Given the description of an element on the screen output the (x, y) to click on. 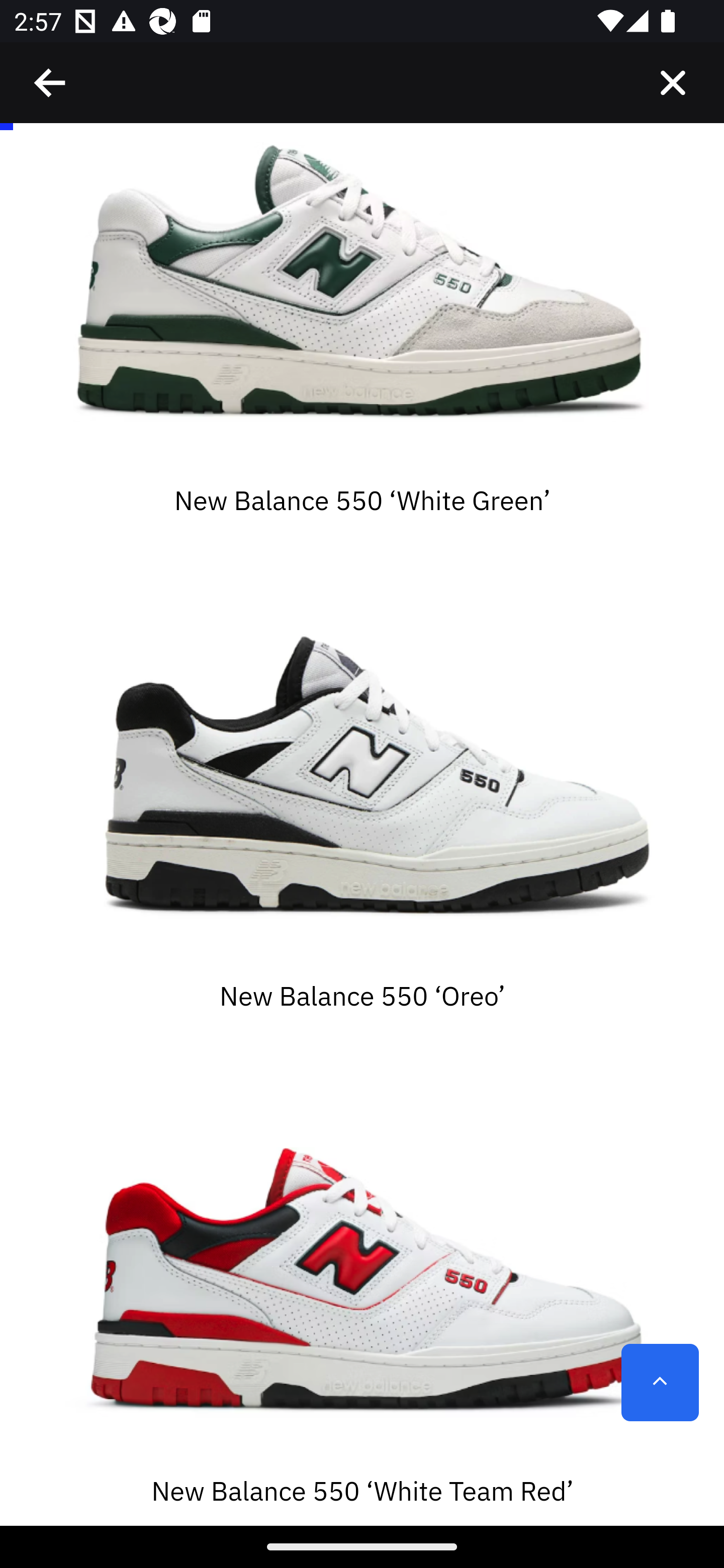
 (50, 83)
 (672, 83)
New Balance 550 'White Green' BB550WT1 (361, 301)
New Balance 550 'Oreo' BB550HA1 (361, 766)
New Balance 550 'White Team Red' (361, 1261)
Scroll to top  (659, 1382)
